Given the description of an element on the screen output the (x, y) to click on. 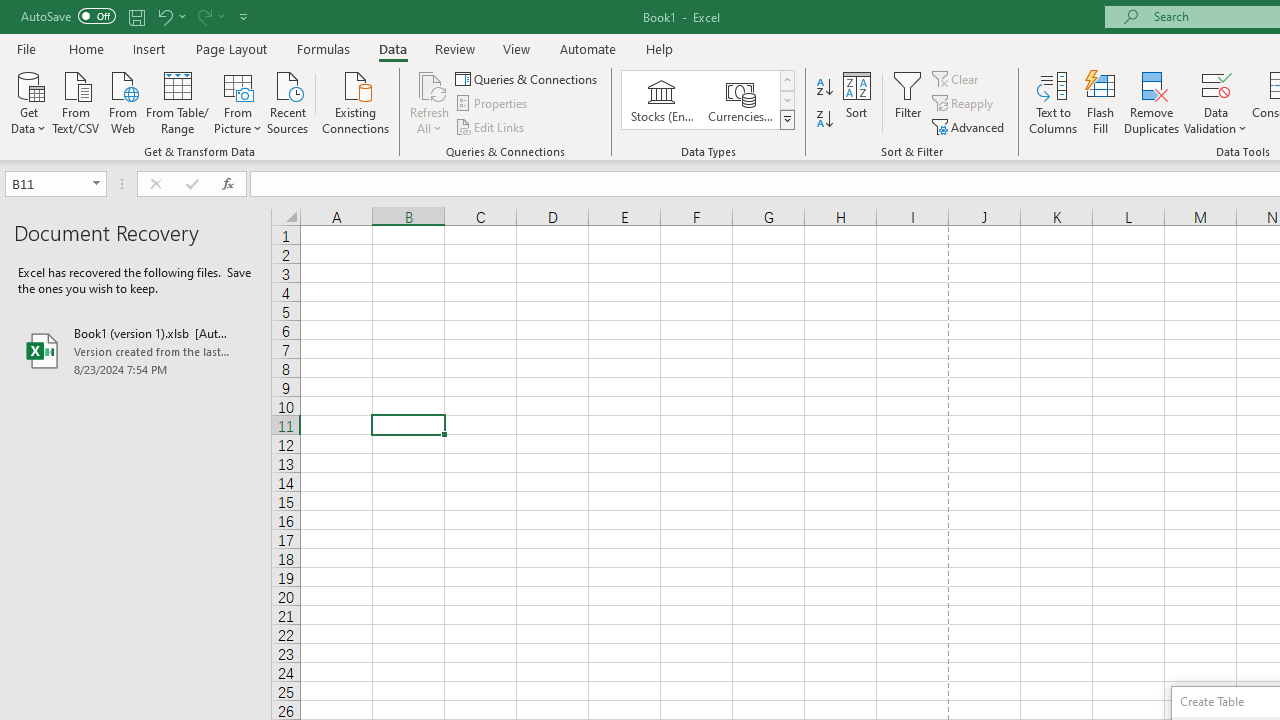
Quick Access Toolbar (136, 16)
Advanced... (970, 126)
Data Validation... (1215, 102)
Clear (957, 78)
Insert (149, 48)
Recent Sources (287, 101)
Text to Columns... (1053, 102)
From Table/Range (177, 101)
Filter (908, 102)
View (517, 48)
Get Data (28, 101)
Customize Quick Access Toolbar (244, 15)
